Given the description of an element on the screen output the (x, y) to click on. 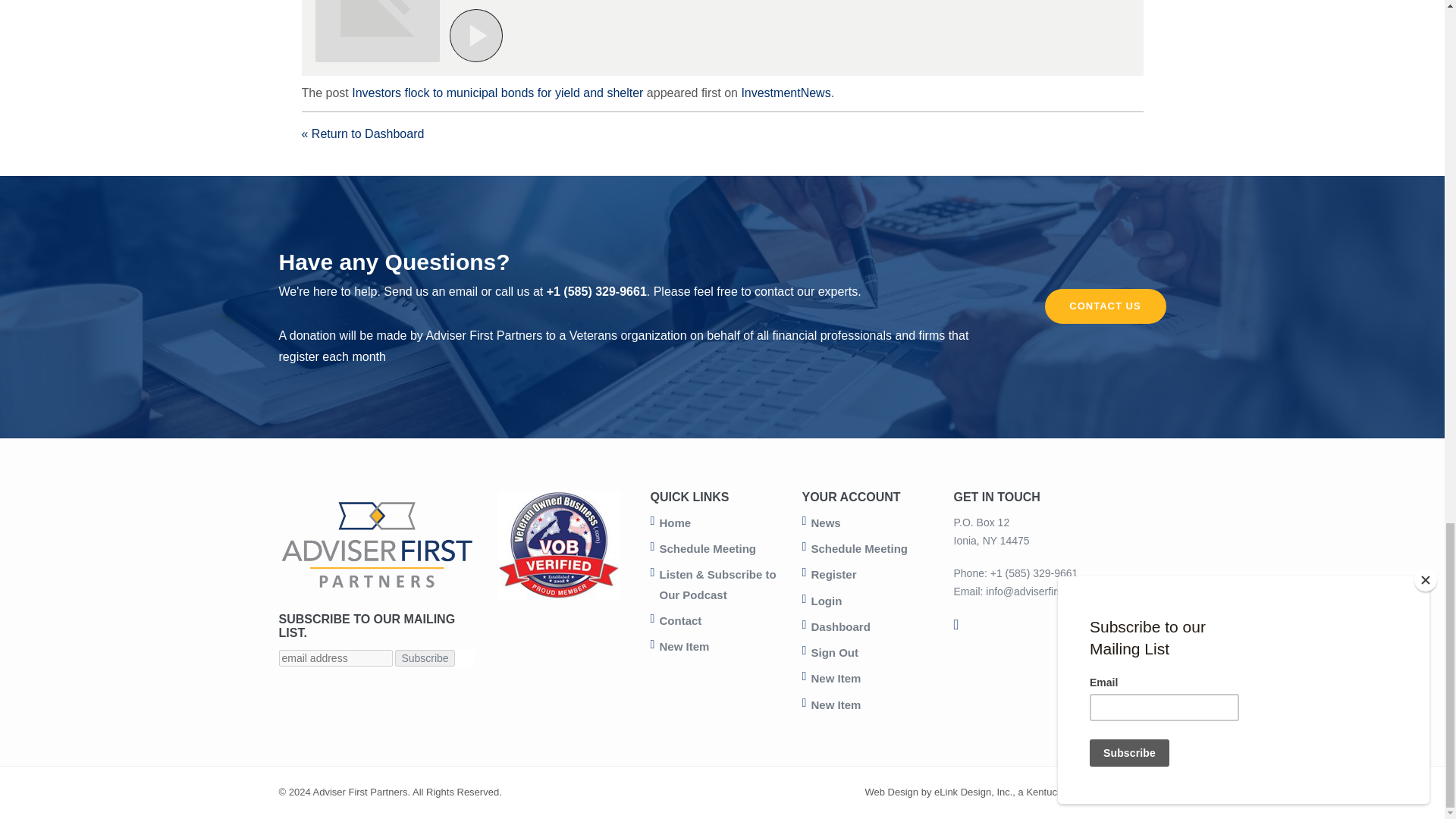
Home (675, 522)
New Item (684, 645)
New Item (835, 677)
Kentucky Web Design (1074, 791)
CONTACT US (1105, 306)
Register (833, 574)
Schedule Meeting (708, 548)
New Item (835, 704)
InvestmentNews (785, 92)
Subscribe (424, 658)
Sign Out (834, 652)
Login (826, 600)
Subscribe (424, 658)
Investors flock to municipal bonds for yield and shelter (497, 92)
News (825, 522)
